Given the description of an element on the screen output the (x, y) to click on. 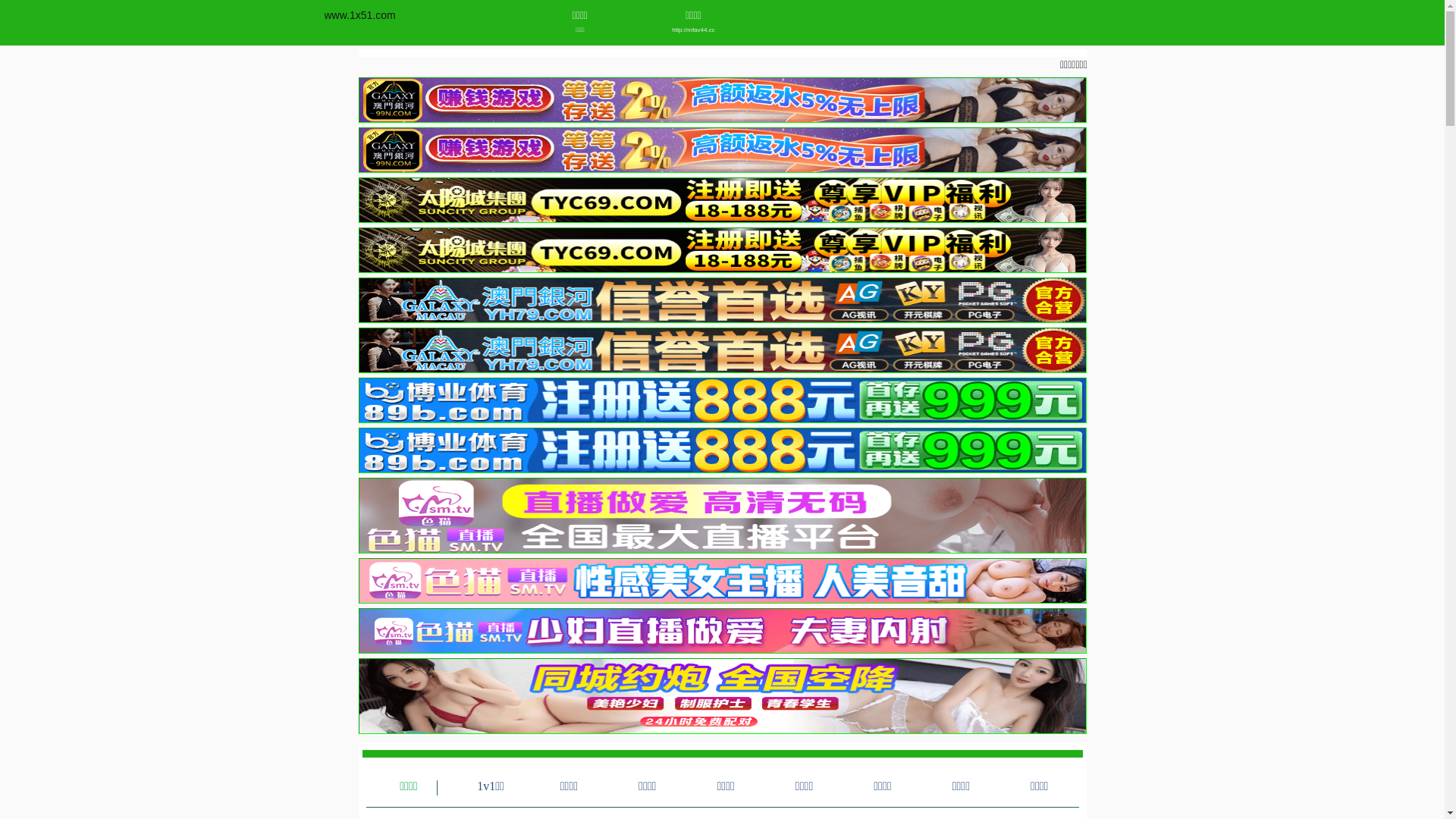
www.1x51.com Element type: text (359, 15)
http://mfav44.cc Element type: text (693, 29)
